Given the description of an element on the screen output the (x, y) to click on. 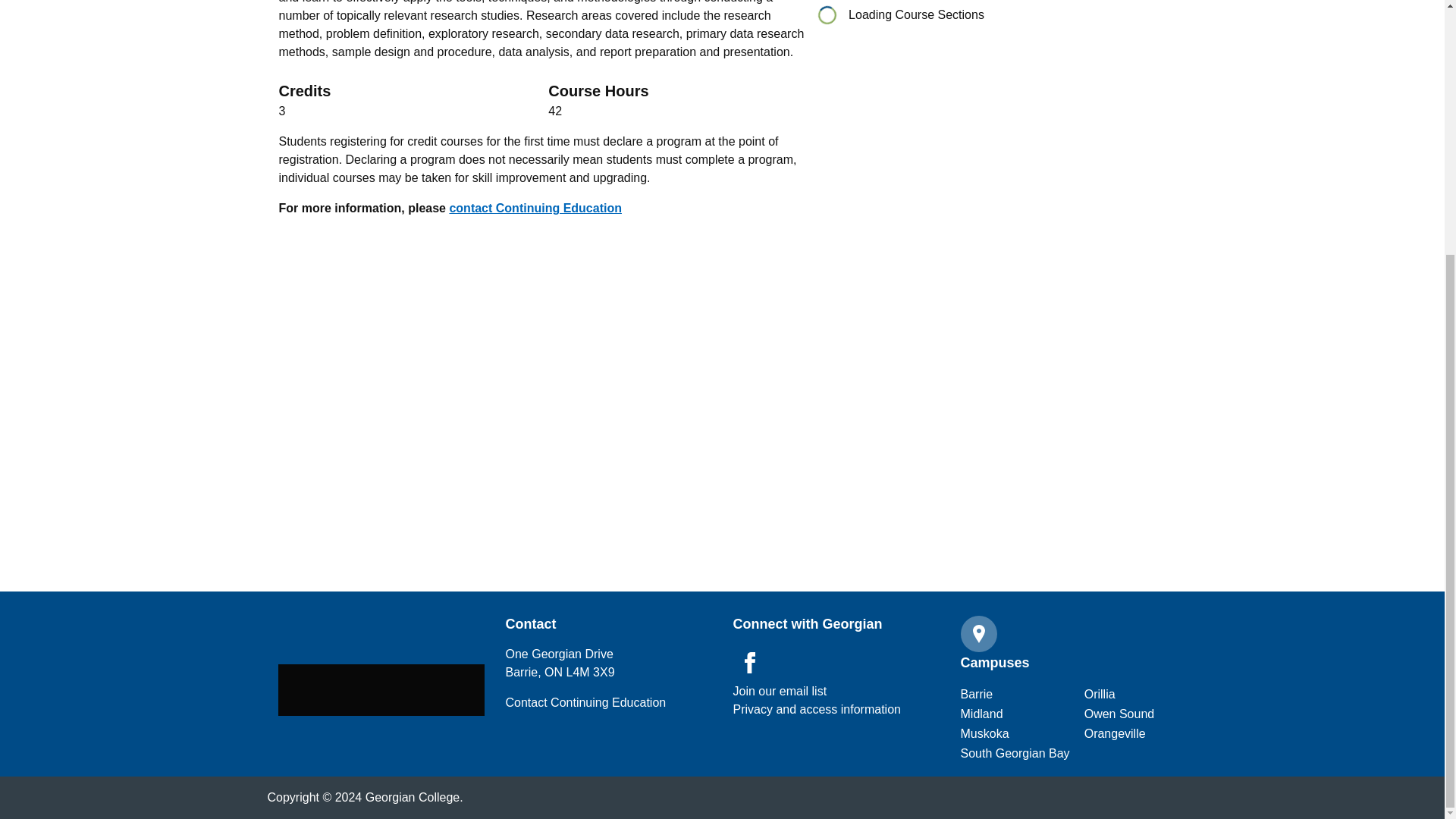
Contact Us (585, 701)
Privacy and access information (779, 691)
Georgian College (380, 689)
Privacy and access information (815, 710)
